Given the description of an element on the screen output the (x, y) to click on. 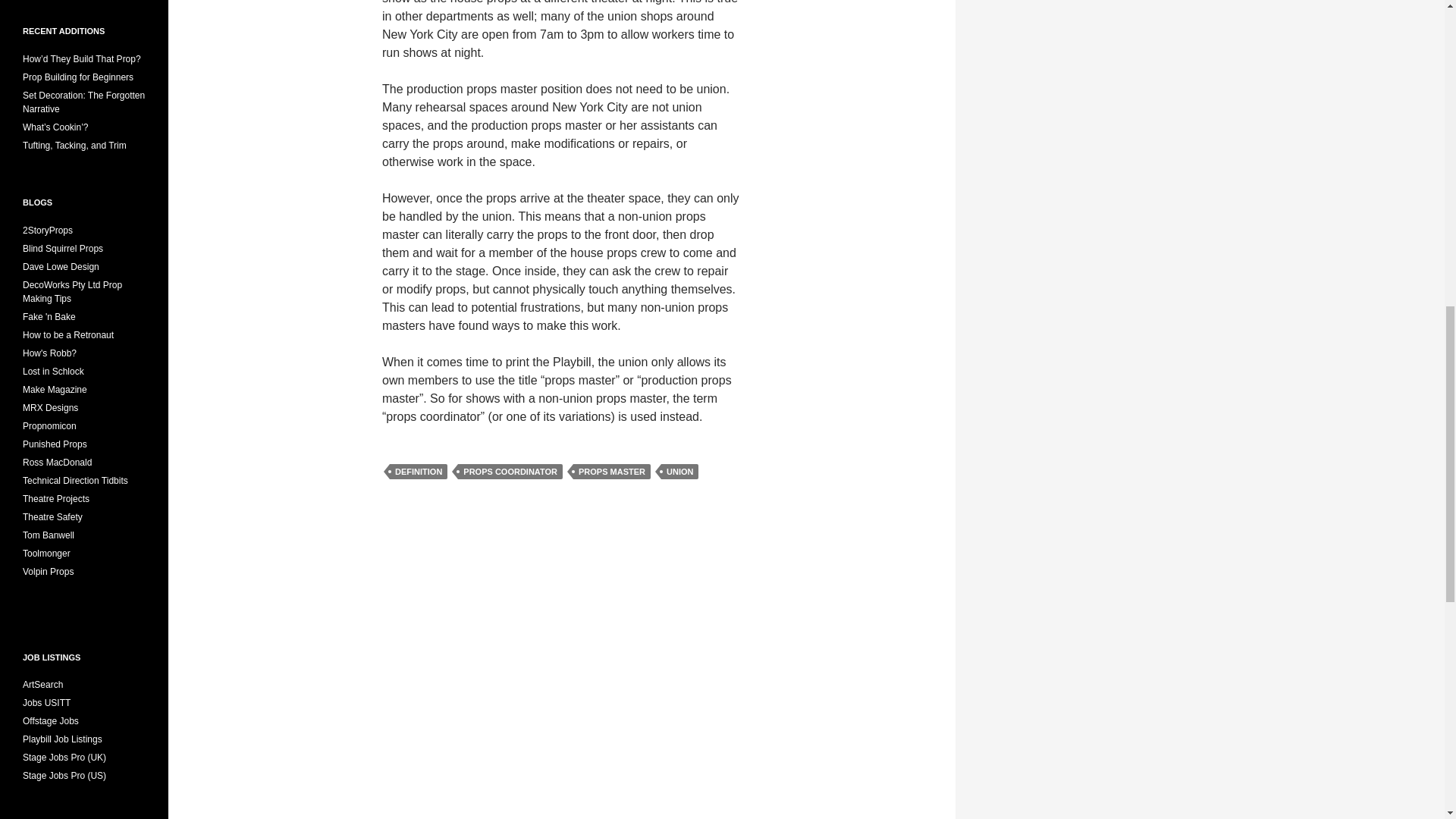
Set Decoration: The Forgotten Narrative (83, 102)
Prop Building for Beginners (78, 77)
PROPS COORDINATOR (510, 471)
How's Robb? (50, 352)
Tufting, Tacking, and Trim (74, 145)
Prop design and building for low-budget TV and film (61, 266)
How to be a Retronaut (68, 334)
